Given the description of an element on the screen output the (x, y) to click on. 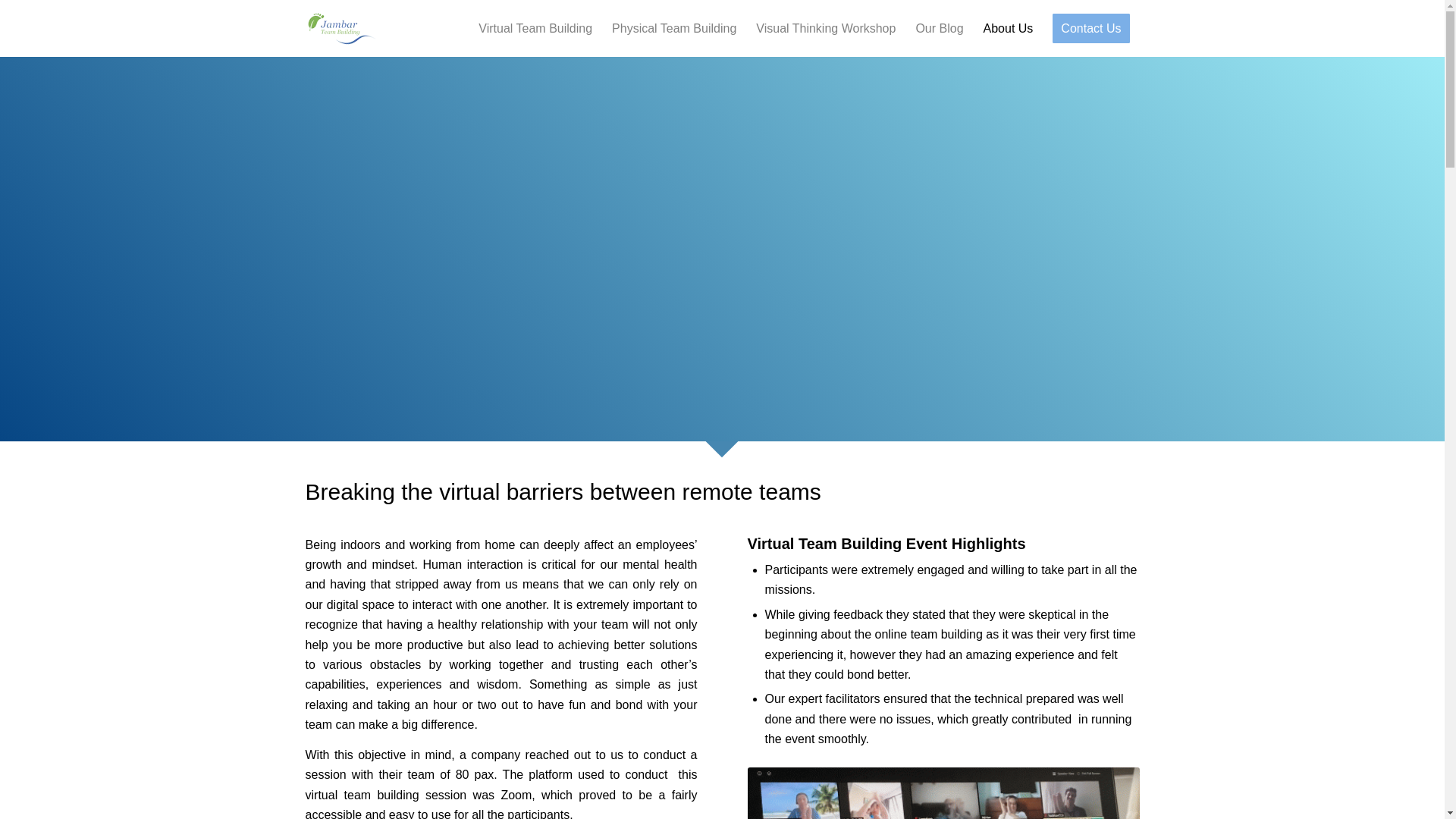
Jambar Virtual Case Study (944, 793)
Virtual Team Building (535, 28)
About Us (1008, 28)
Contact Us (1090, 28)
Physical Team Building (673, 28)
Visual Thinking Workshop (825, 28)
Our Blog (938, 28)
Jambar Logo (339, 28)
